Given the description of an element on the screen output the (x, y) to click on. 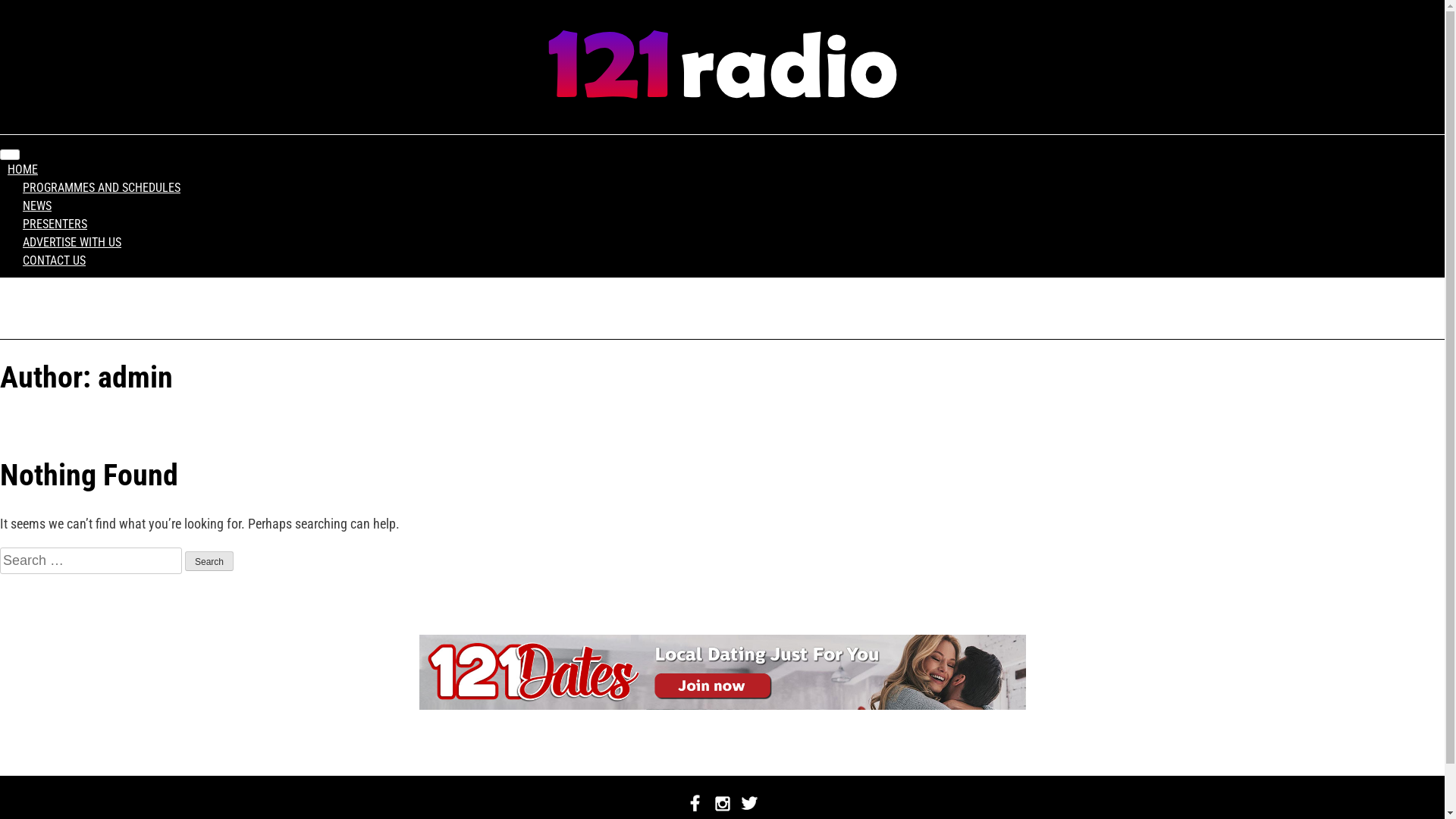
HOME Element type: text (22, 169)
PRESENTERS Element type: text (54, 224)
Search Element type: text (209, 561)
NEWS Element type: text (37, 205)
CONTACT US Element type: text (54, 260)
PROGRAMMES AND SCHEDULES Element type: text (101, 187)
121radio Element type: text (722, 93)
ADVERTISE WITH US Element type: text (71, 242)
